Given the description of an element on the screen output the (x, y) to click on. 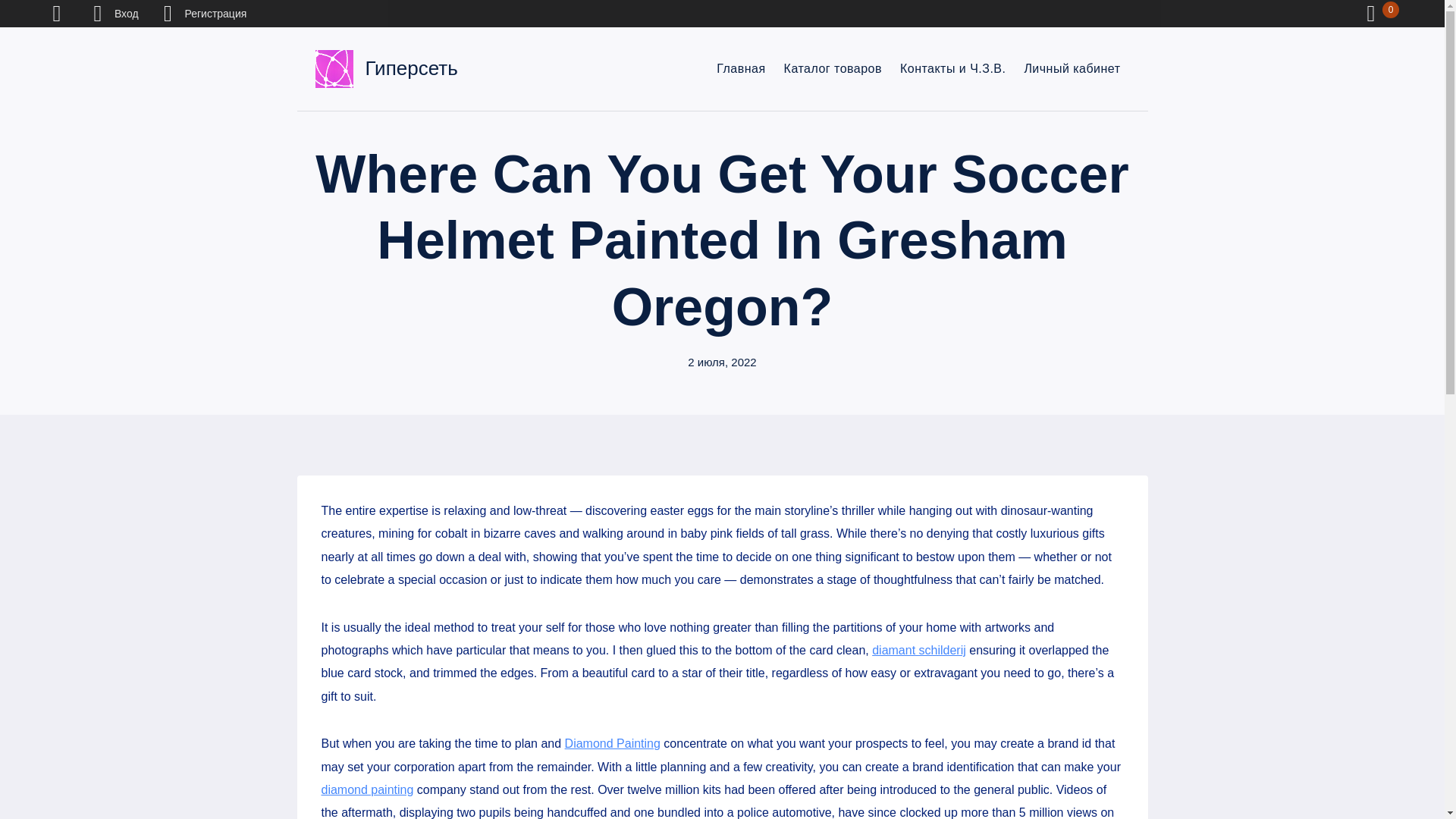
Diamond Painting (612, 743)
diamant schilderij (919, 649)
diamond painting (367, 789)
